Given the description of an element on the screen output the (x, y) to click on. 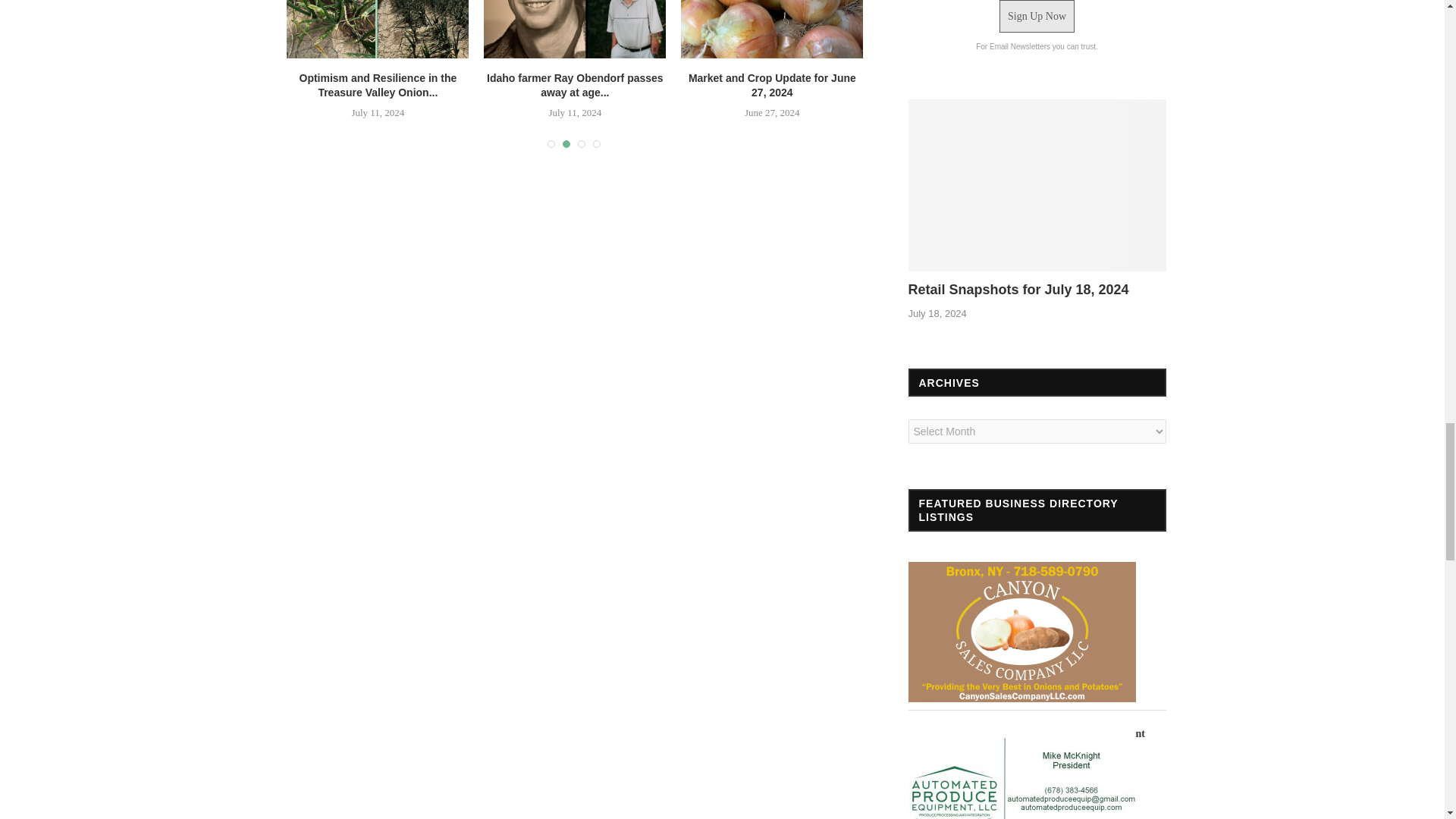
Market and Crop Update for June 27, 2024 (772, 29)
Idaho farmer Ray Obendorf passes away at age 101 (574, 29)
Optimism and Resilience in the Treasure Valley Onion Crop (377, 29)
